Given the description of an element on the screen output the (x, y) to click on. 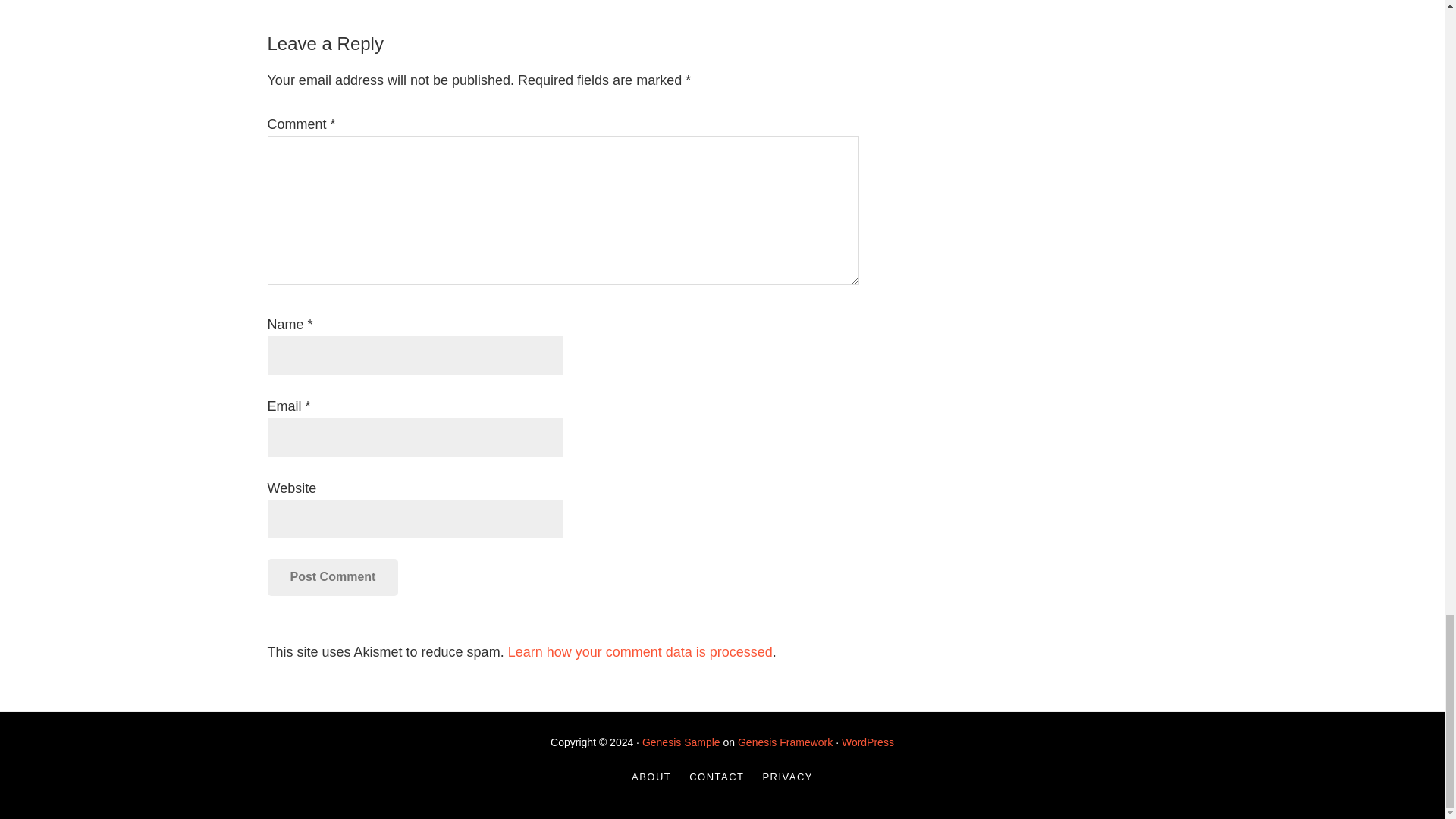
Learn how your comment data is processed (640, 652)
Post Comment (331, 576)
Post Comment (331, 576)
